Given the description of an element on the screen output the (x, y) to click on. 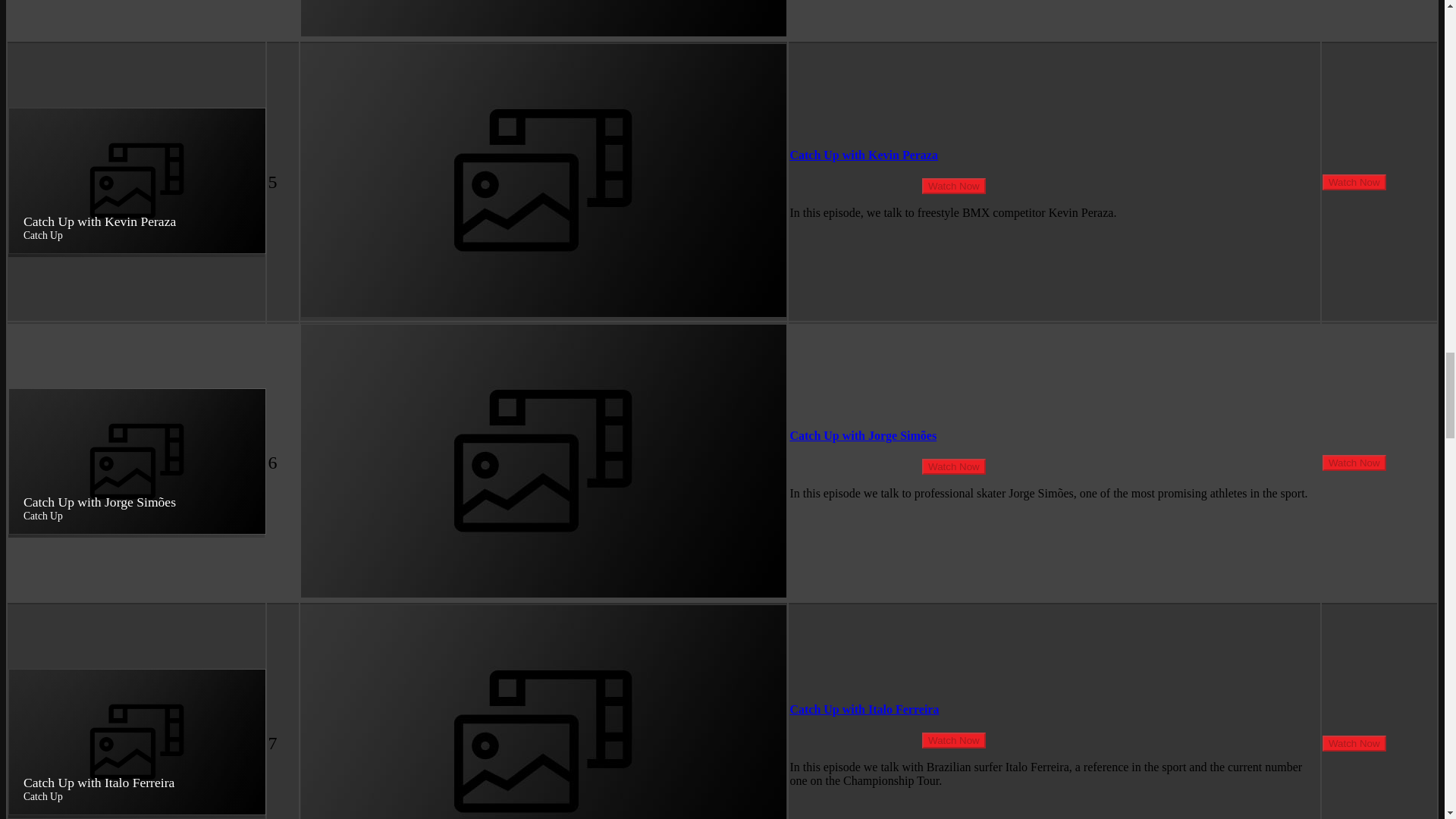
Catch Up with Italo Ferreira (864, 708)
Catch Up with Kevin Peraza (863, 154)
